Given the description of an element on the screen output the (x, y) to click on. 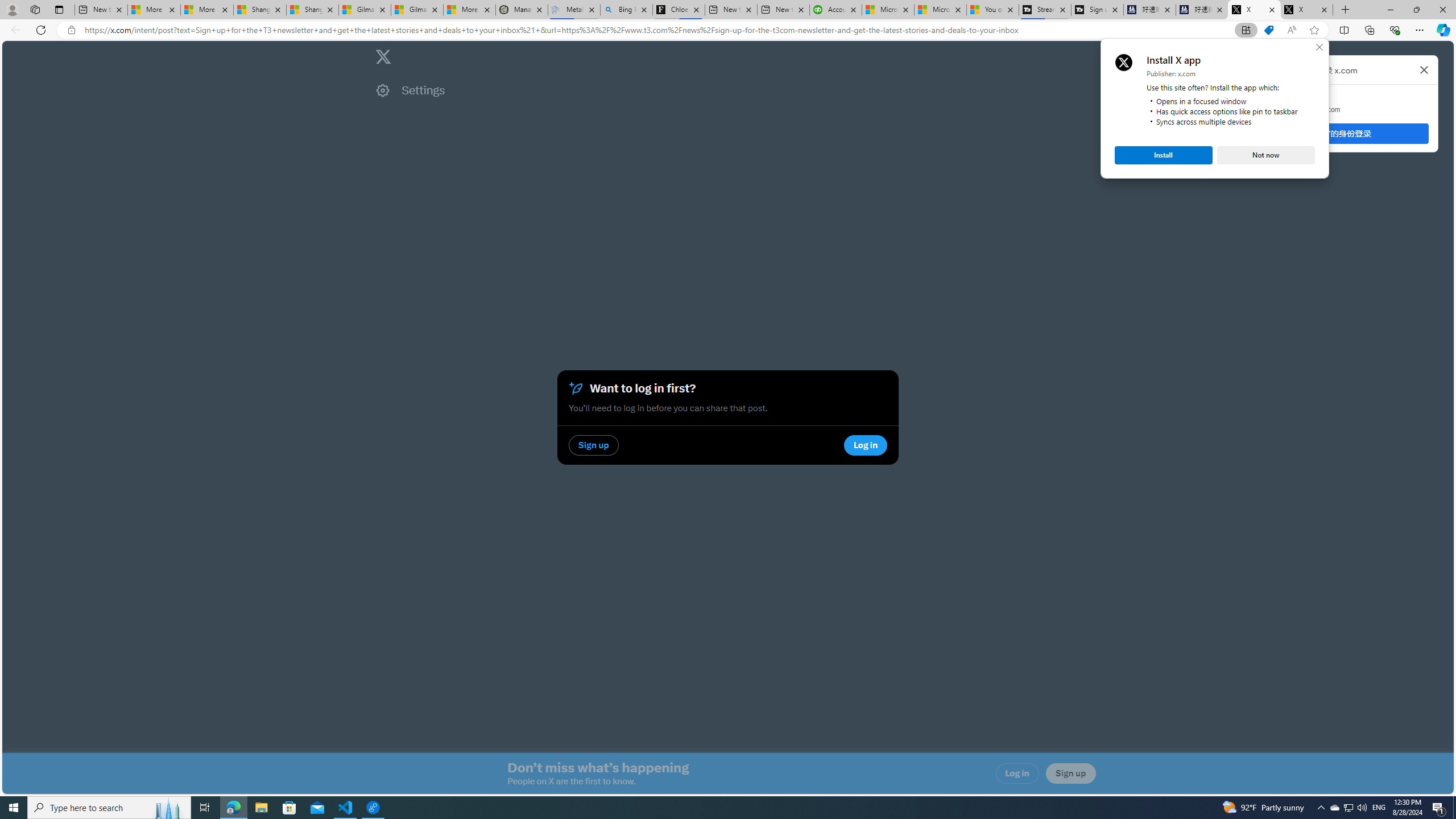
New Tab (1346, 9)
Workspaces (34, 9)
Task View (204, 807)
Settings and more (Alt+F) (1419, 29)
Tray Input Indicator - English (United States) (1378, 807)
Log in (1017, 773)
Sign up (1070, 773)
Type here to search (108, 807)
Microsoft Start (940, 9)
Collections (1369, 29)
